Given the description of an element on the screen output the (x, y) to click on. 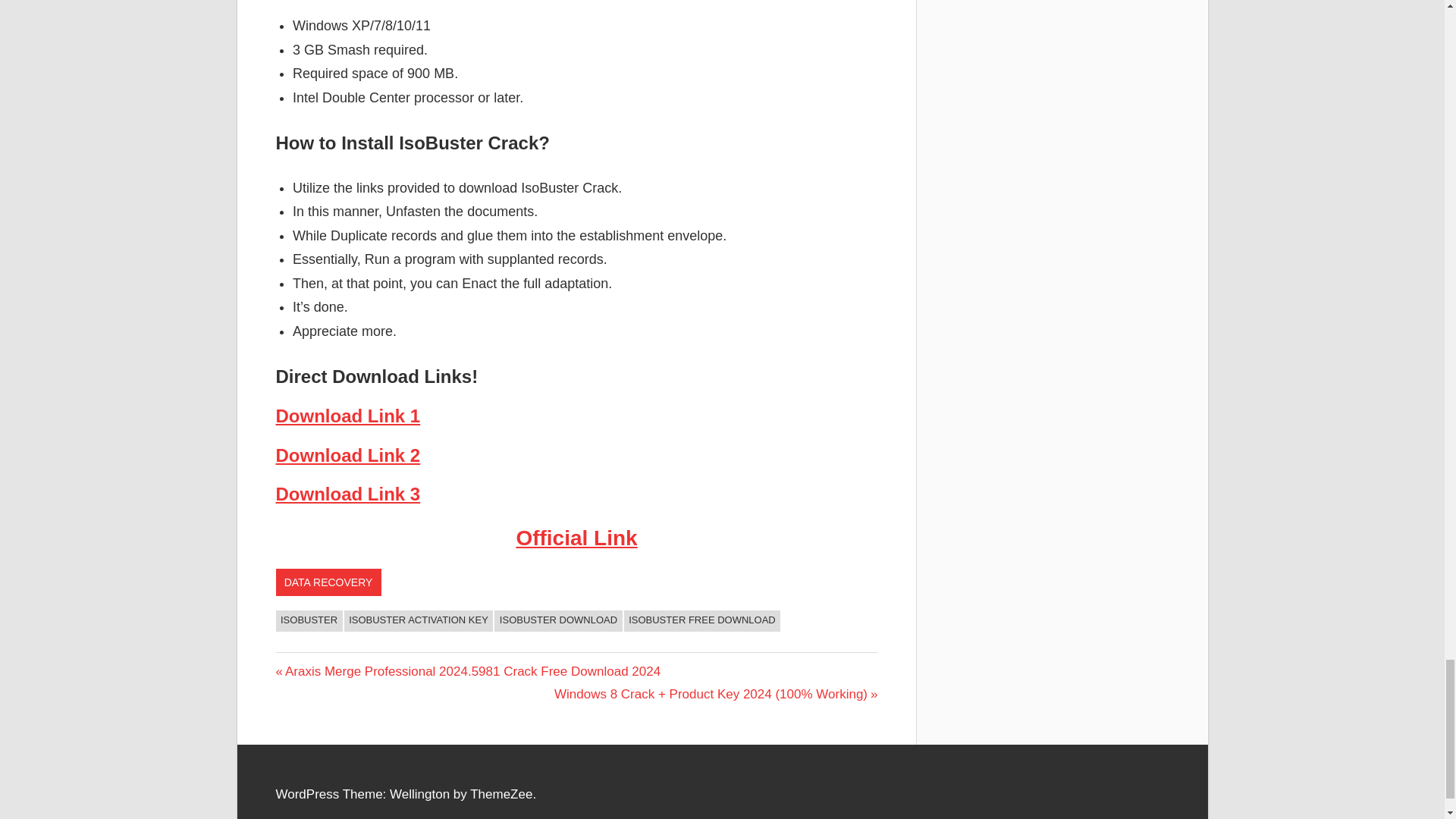
Official Link (576, 537)
ISOBUSTER FREE DOWNLOAD (702, 620)
ISOBUSTER ACTIVATION KEY (418, 620)
Download Link 1 (348, 415)
DATA RECOVERY (328, 582)
ISOBUSTER (309, 620)
Download Link 3 (348, 494)
ISOBUSTER DOWNLOAD (558, 620)
Download Link 2 (348, 455)
